Given the description of an element on the screen output the (x, y) to click on. 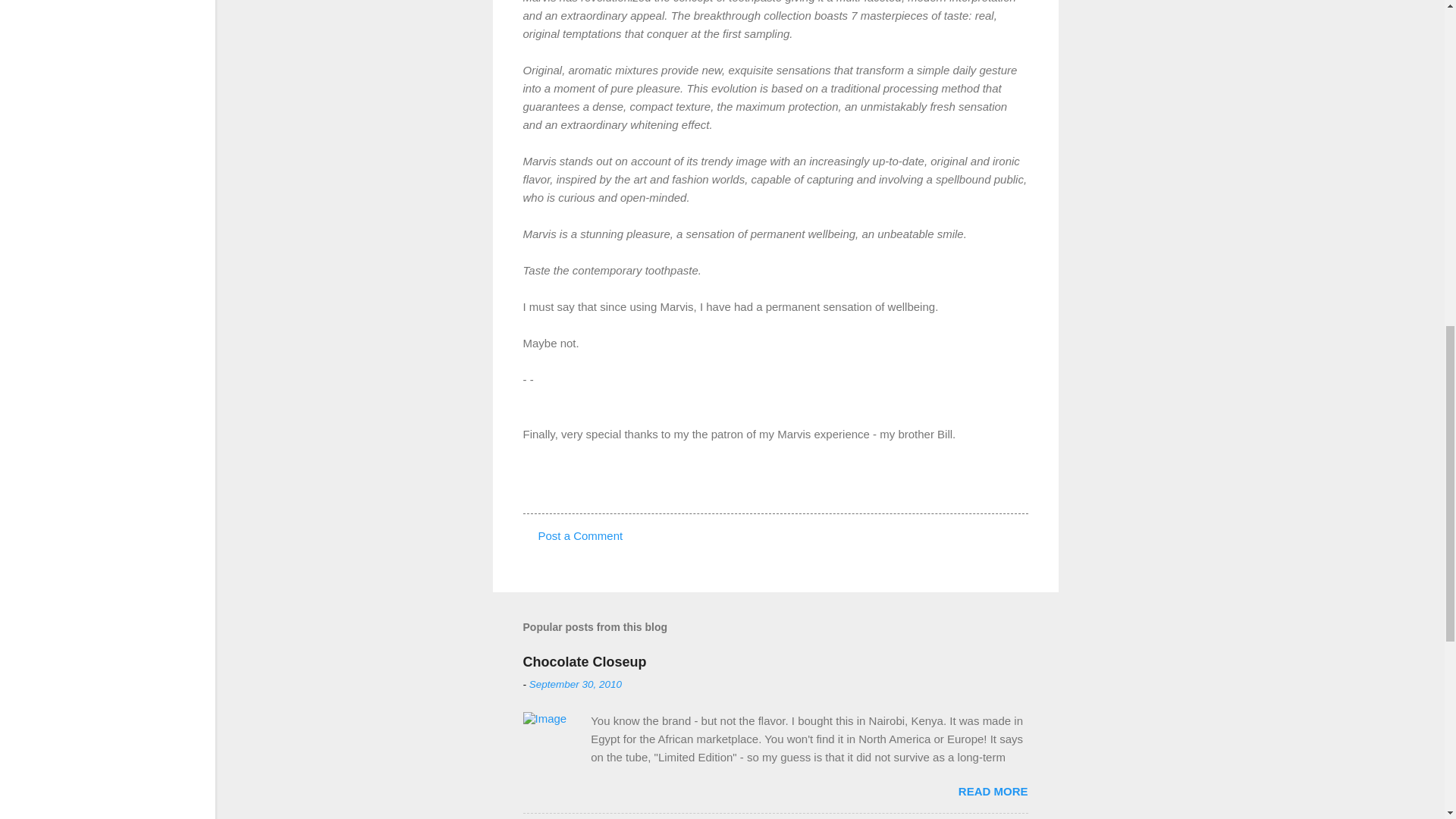
September 30, 2010 (575, 684)
permanent link (575, 684)
Post a Comment (580, 535)
Email Post (562, 485)
READ MORE (992, 790)
Chocolate Closeup (584, 661)
